Given the description of an element on the screen output the (x, y) to click on. 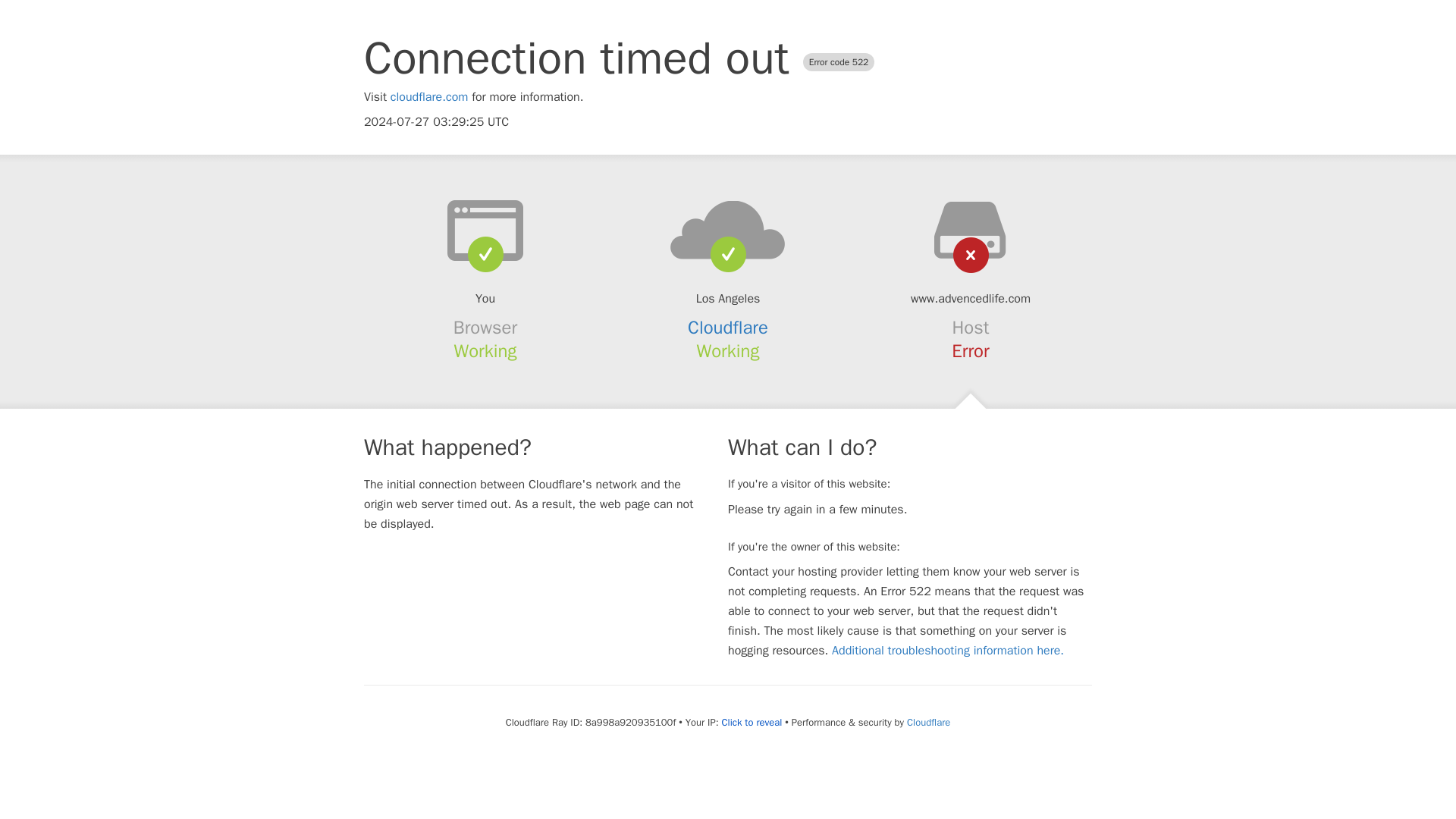
Cloudflare (928, 721)
Additional troubleshooting information here. (947, 650)
Click to reveal (750, 722)
Cloudflare (727, 327)
cloudflare.com (429, 96)
